Given the description of an element on the screen output the (x, y) to click on. 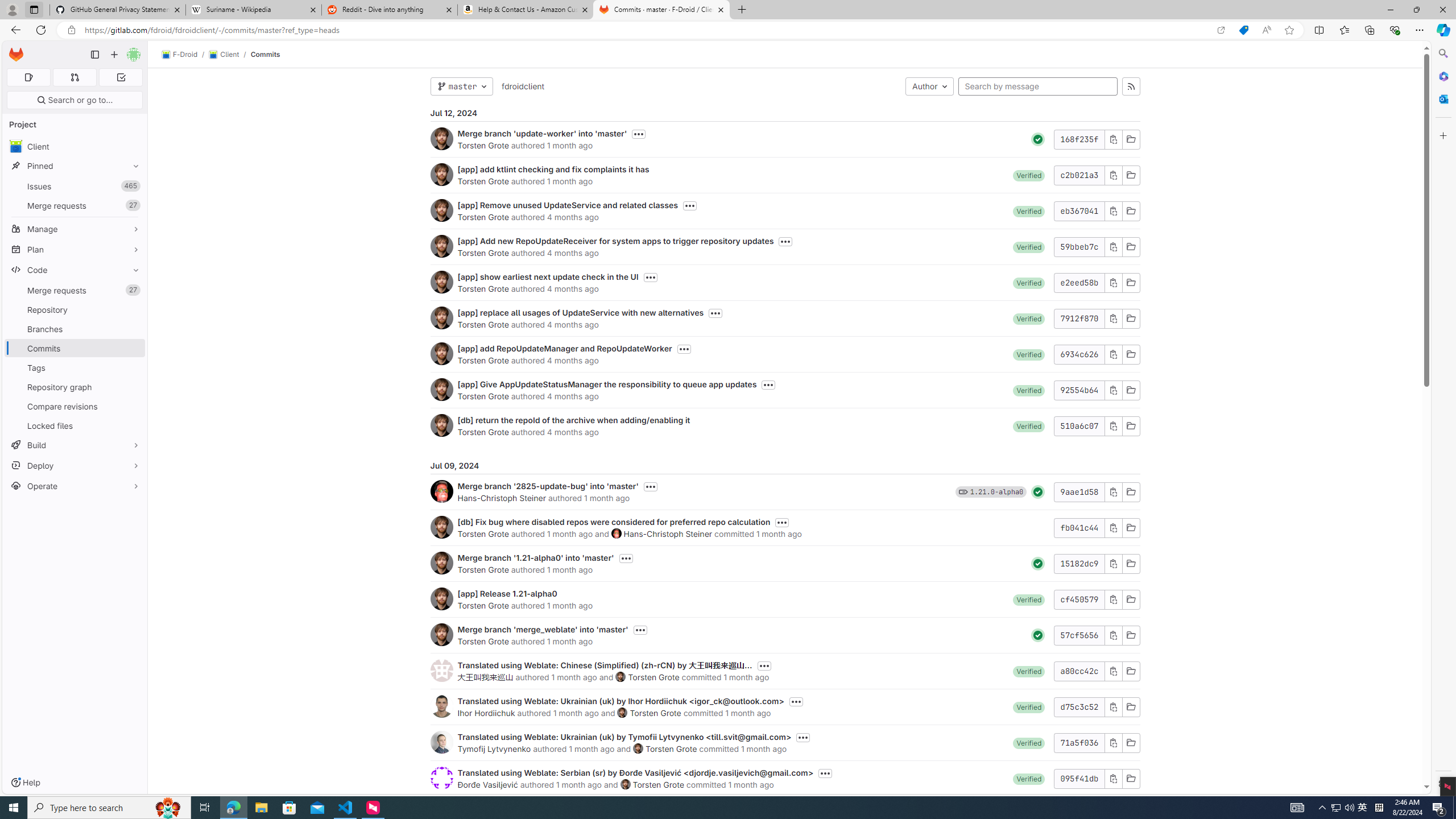
Copilot (Ctrl+Shift+.) (1442, 29)
Issues465 (74, 185)
Client/ (229, 54)
Add this page to favorites (Ctrl+D) (1289, 29)
Code (74, 269)
Ihor Hordiichuk's avatar (440, 706)
Build (74, 444)
Commits (265, 53)
Repository (74, 309)
Compare revisions (74, 406)
Hans-Christoph Steiner's avatar (616, 533)
Merge branch '2825-update-bug' into 'master' (548, 485)
